Given the description of an element on the screen output the (x, y) to click on. 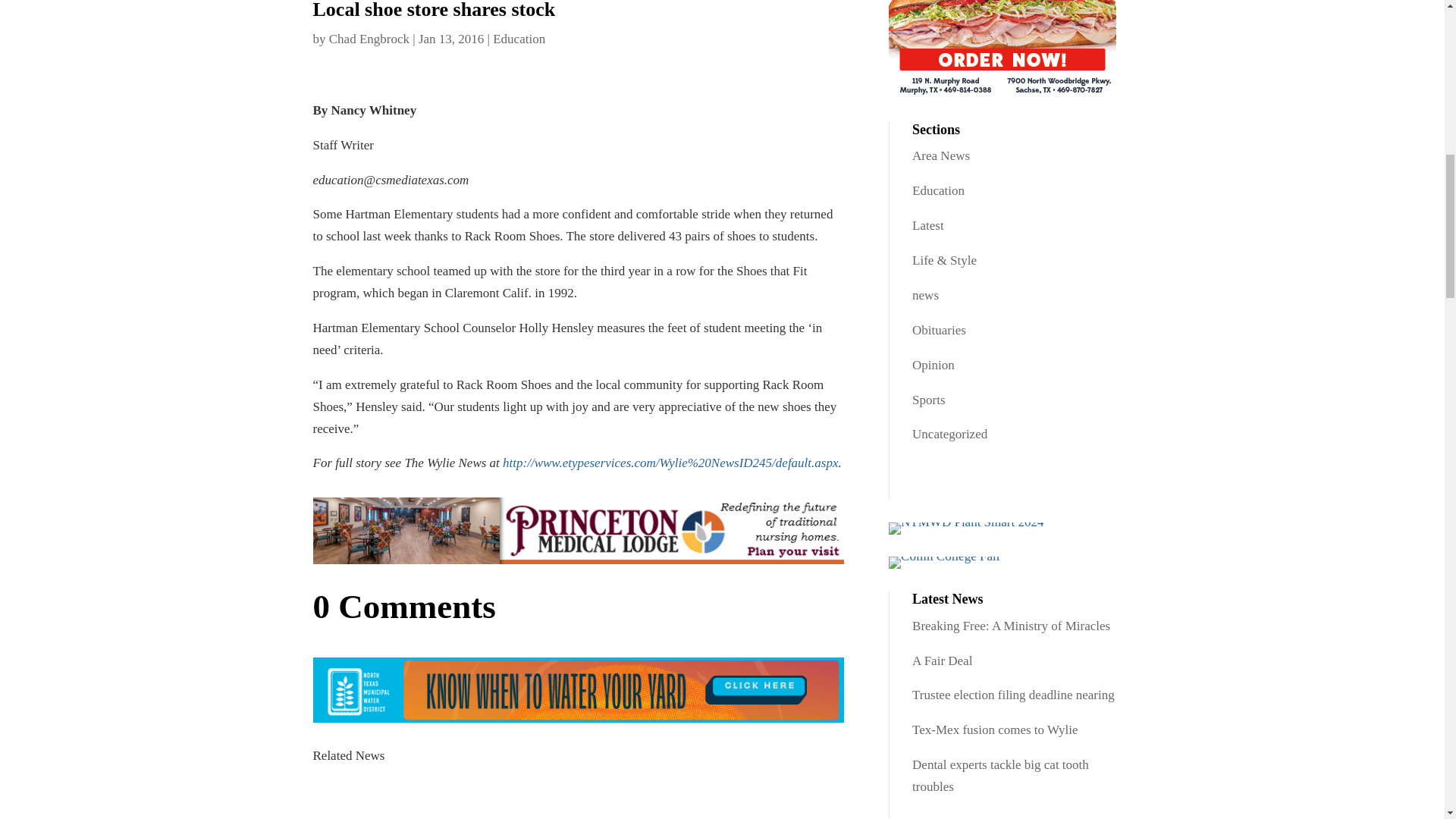
FY24-Summer-KnowWhenToWater-Static Ads 300x250 (578, 690)
Posts by Chad Engbrock (369, 38)
Jersey Mikes 15095 Web banner Above 300x250 (1002, 49)
FY24-Summer-KnowWhenToWater-Static Ads 300x250 (965, 528)
